Given the description of an element on the screen output the (x, y) to click on. 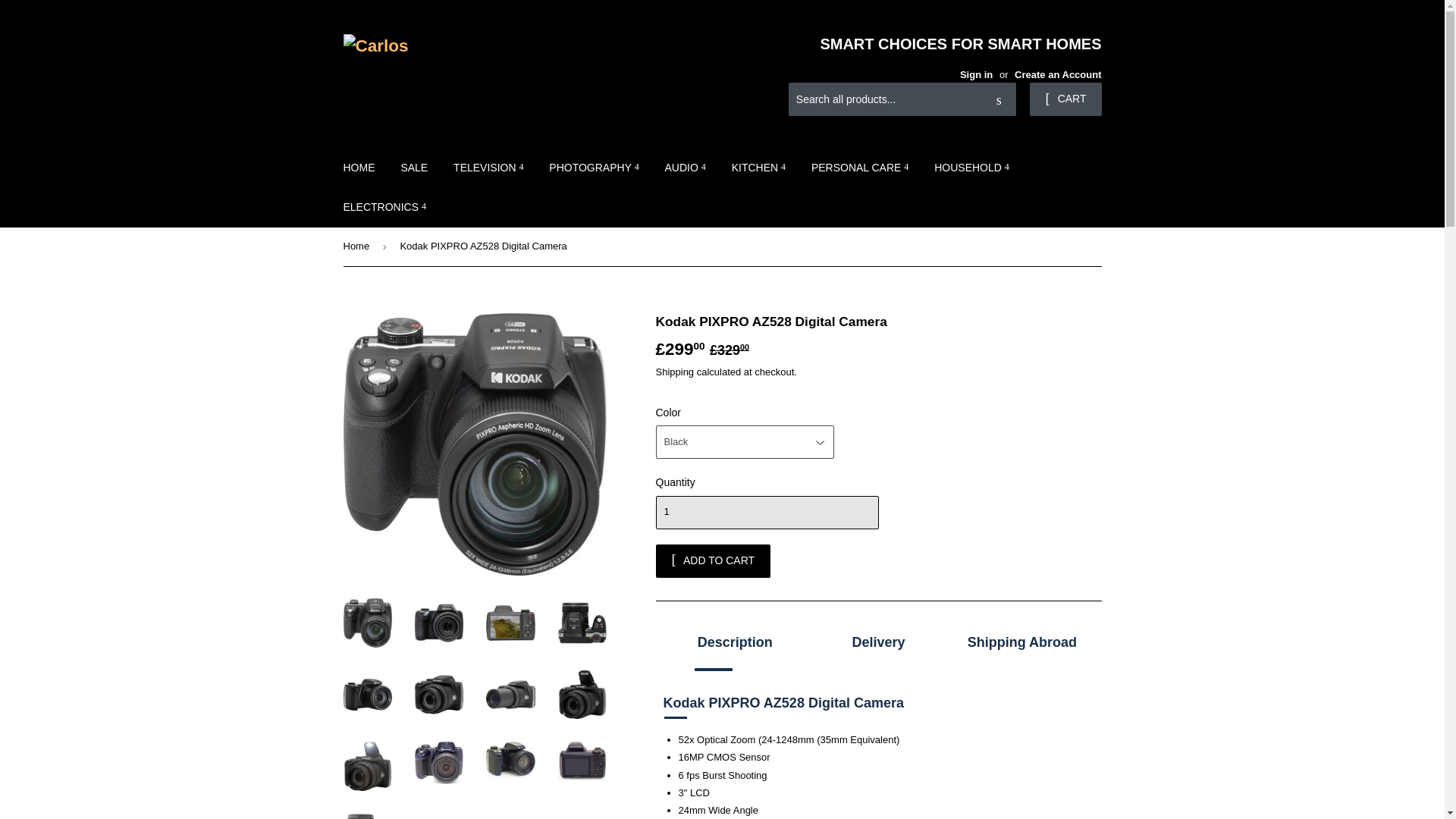
Description (734, 644)
Guarantee (1021, 644)
SMART CHOICES FOR SMART HOMES (911, 43)
CART (1064, 99)
Search (998, 100)
1 (766, 512)
Create an Account (1057, 74)
Sign in (975, 74)
Delivery (878, 644)
